Given the description of an element on the screen output the (x, y) to click on. 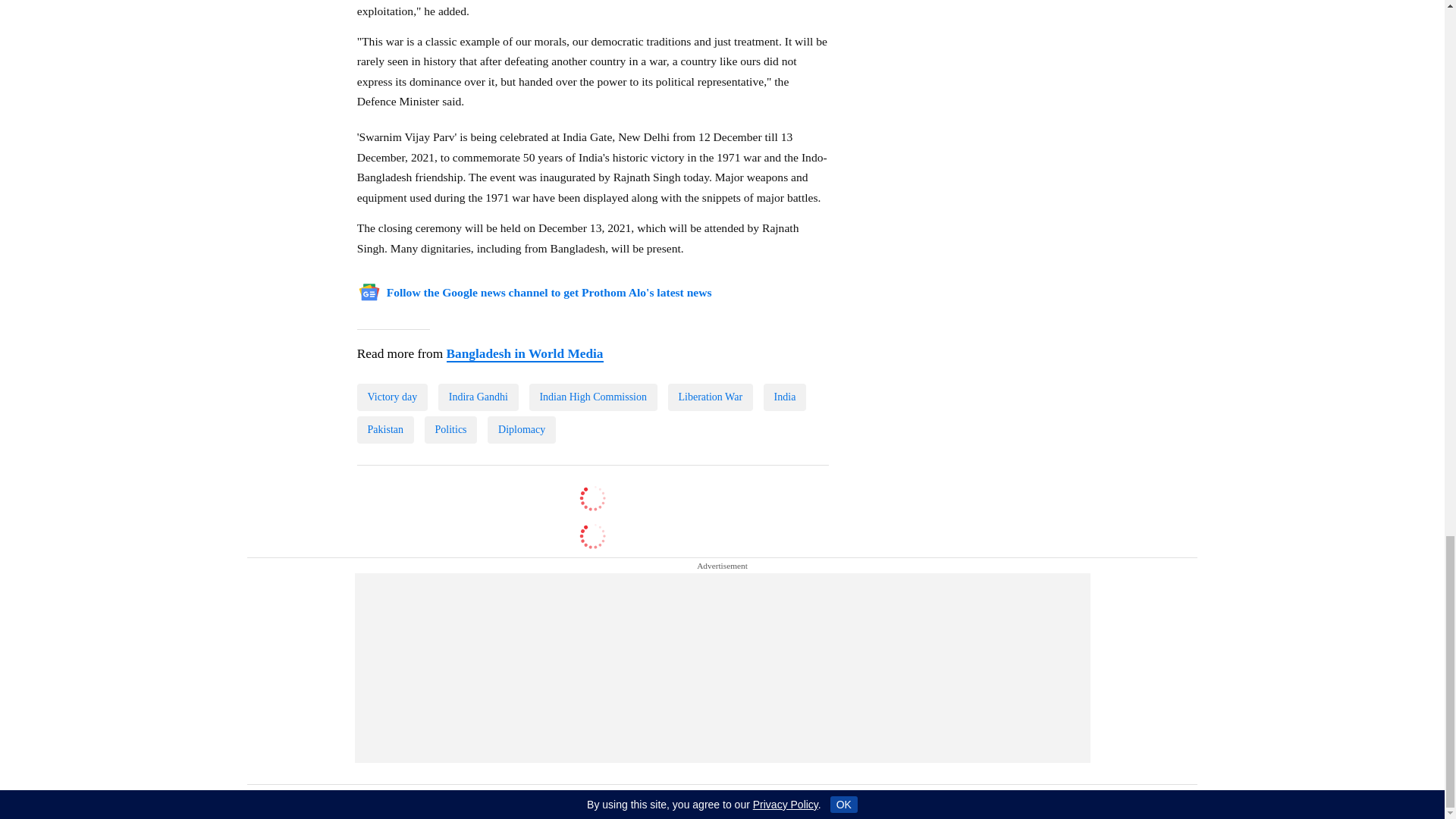
Victory day (392, 397)
Indira Gandhi (478, 397)
Indian High Commission (593, 397)
Bangladesh in World Media (523, 353)
